Given the description of an element on the screen output the (x, y) to click on. 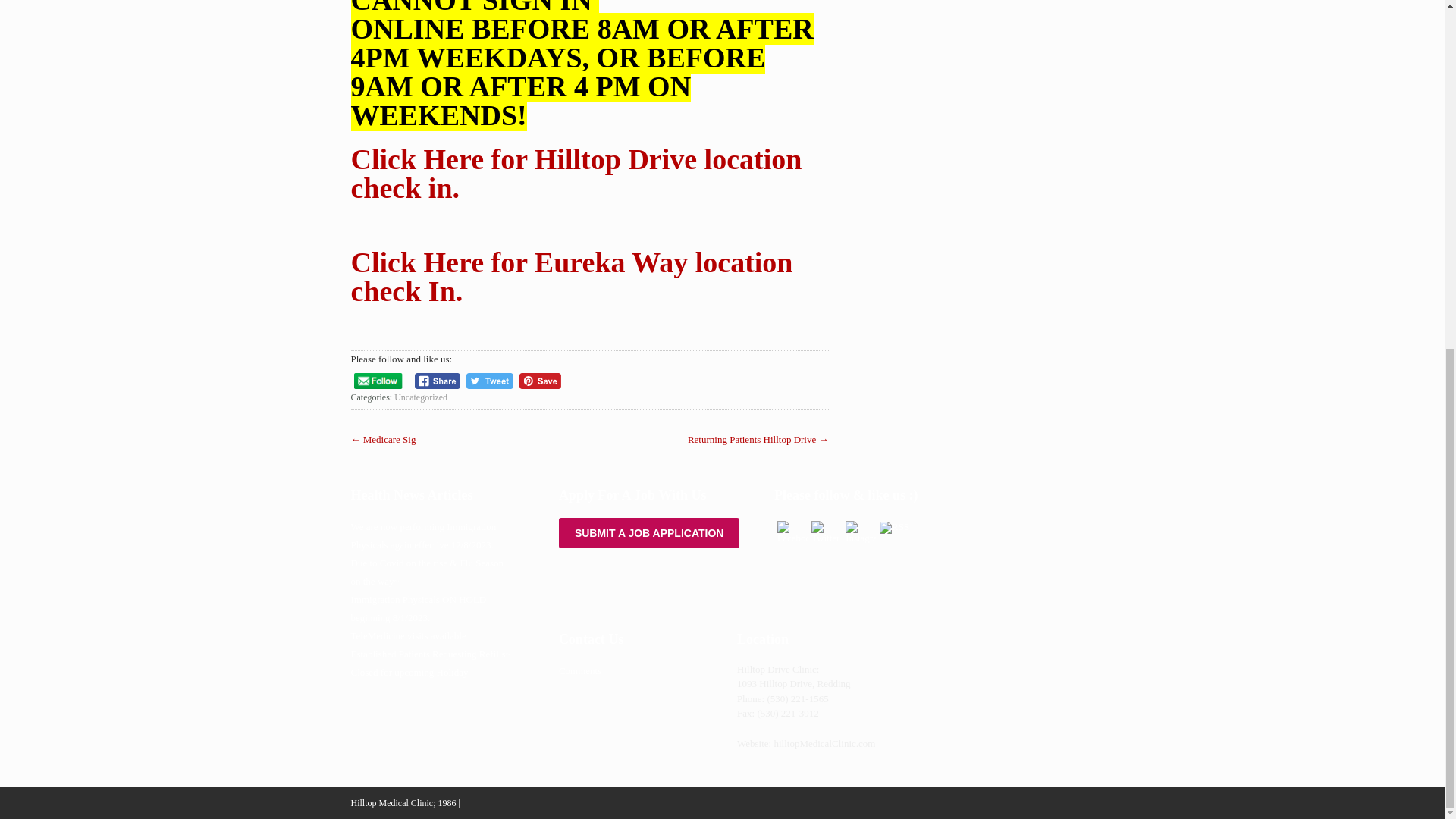
View all posts in Uncategorized (420, 397)
Facebook Share (437, 381)
Pin Share (539, 381)
Twitter (825, 531)
Click Here for Hilltop Drive location check in. (576, 173)
Instagram (860, 531)
Uncategorized (420, 397)
Click Here for Eureka Way location check In. (571, 276)
RSS (893, 526)
Facebook (792, 531)
